Given the description of an element on the screen output the (x, y) to click on. 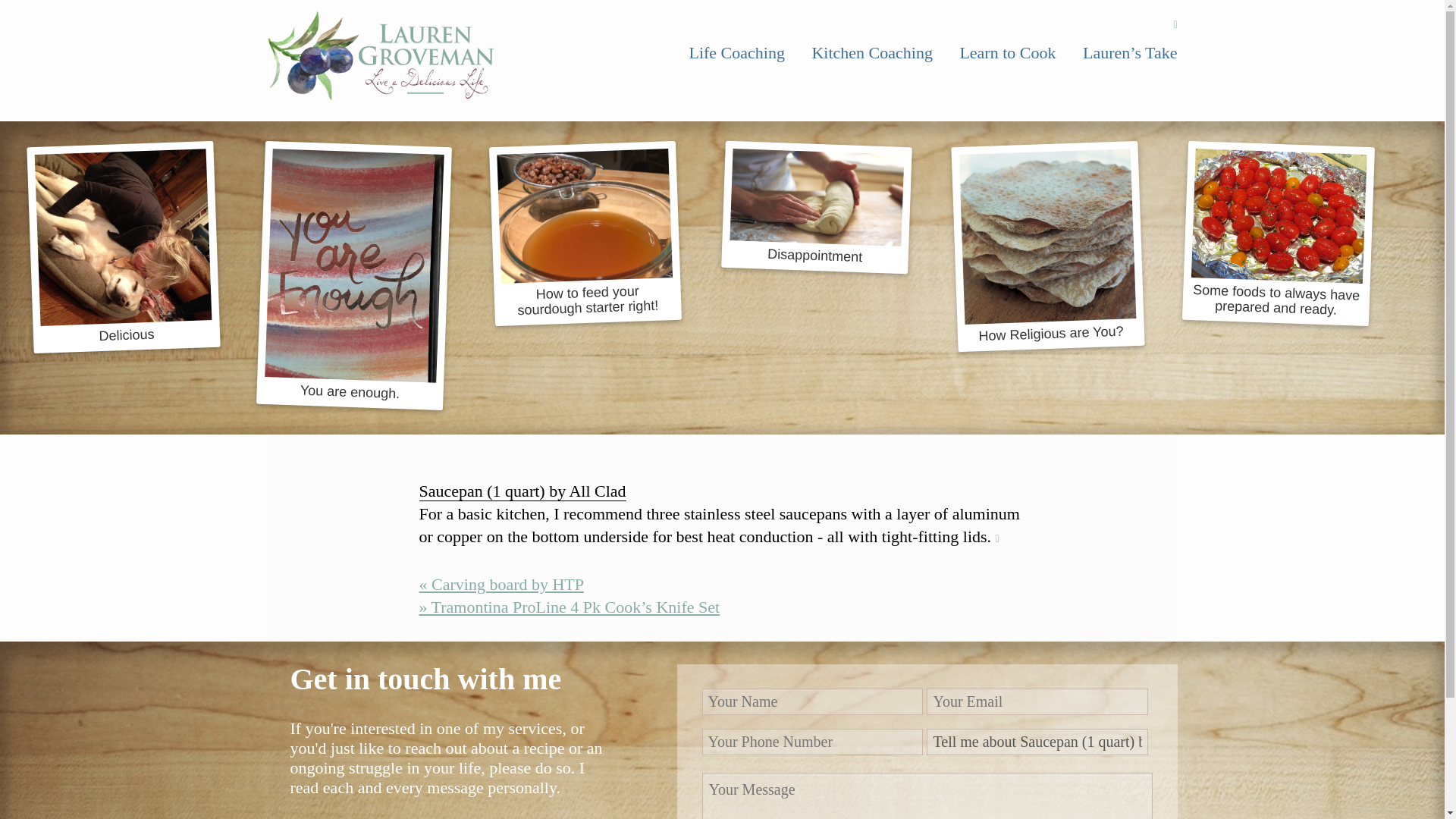
How to feed your sourdough starter right! (582, 229)
Delicious (119, 243)
How Religious are You? (1043, 242)
Kitchen Coaching (870, 52)
Life Coaching (736, 52)
Disappointment (813, 203)
Some foods to always have prepared and ready. (1275, 229)
Learn to Cook (1007, 52)
